Given the description of an element on the screen output the (x, y) to click on. 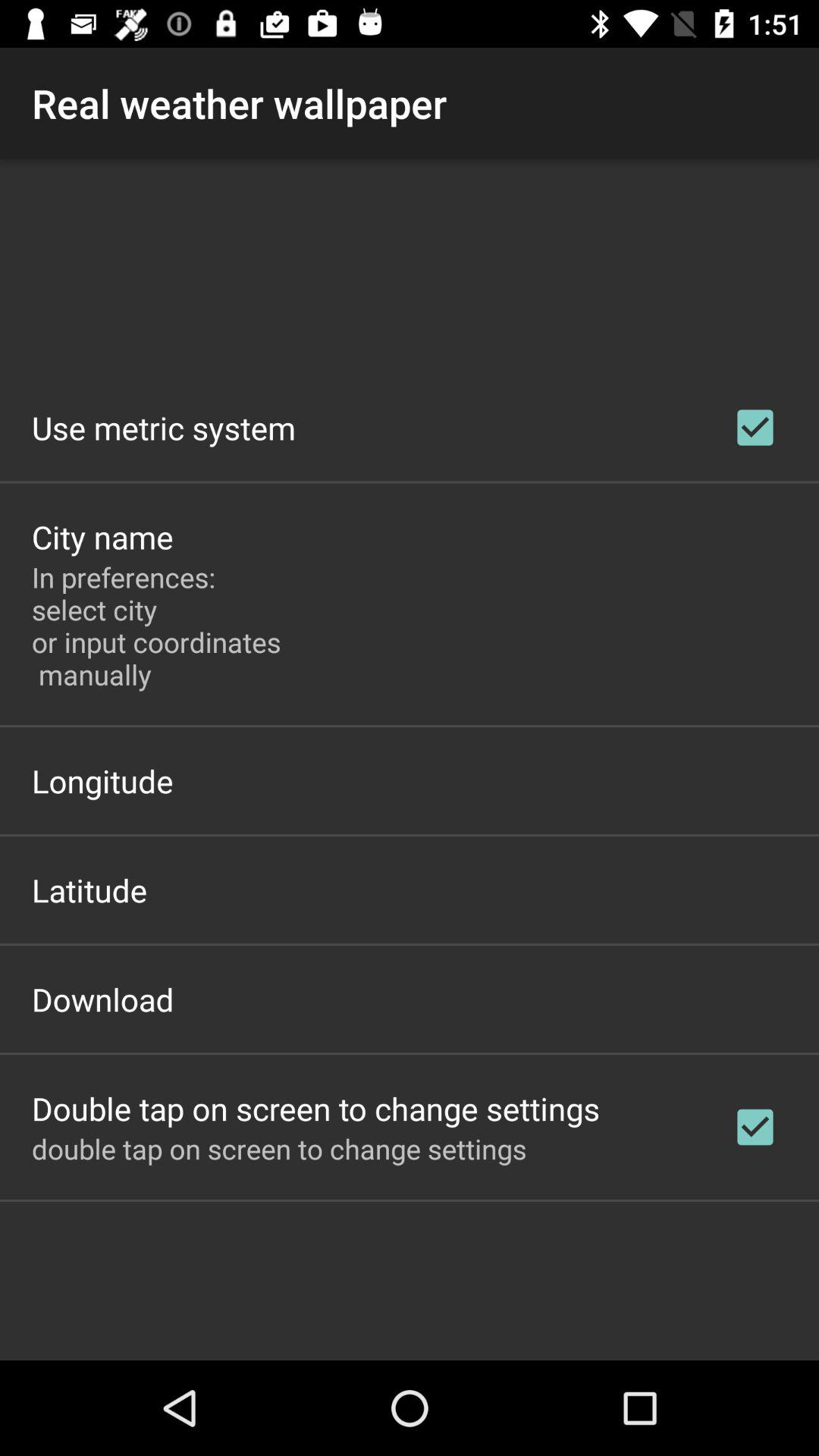
select the latitude icon (89, 889)
